Given the description of an element on the screen output the (x, y) to click on. 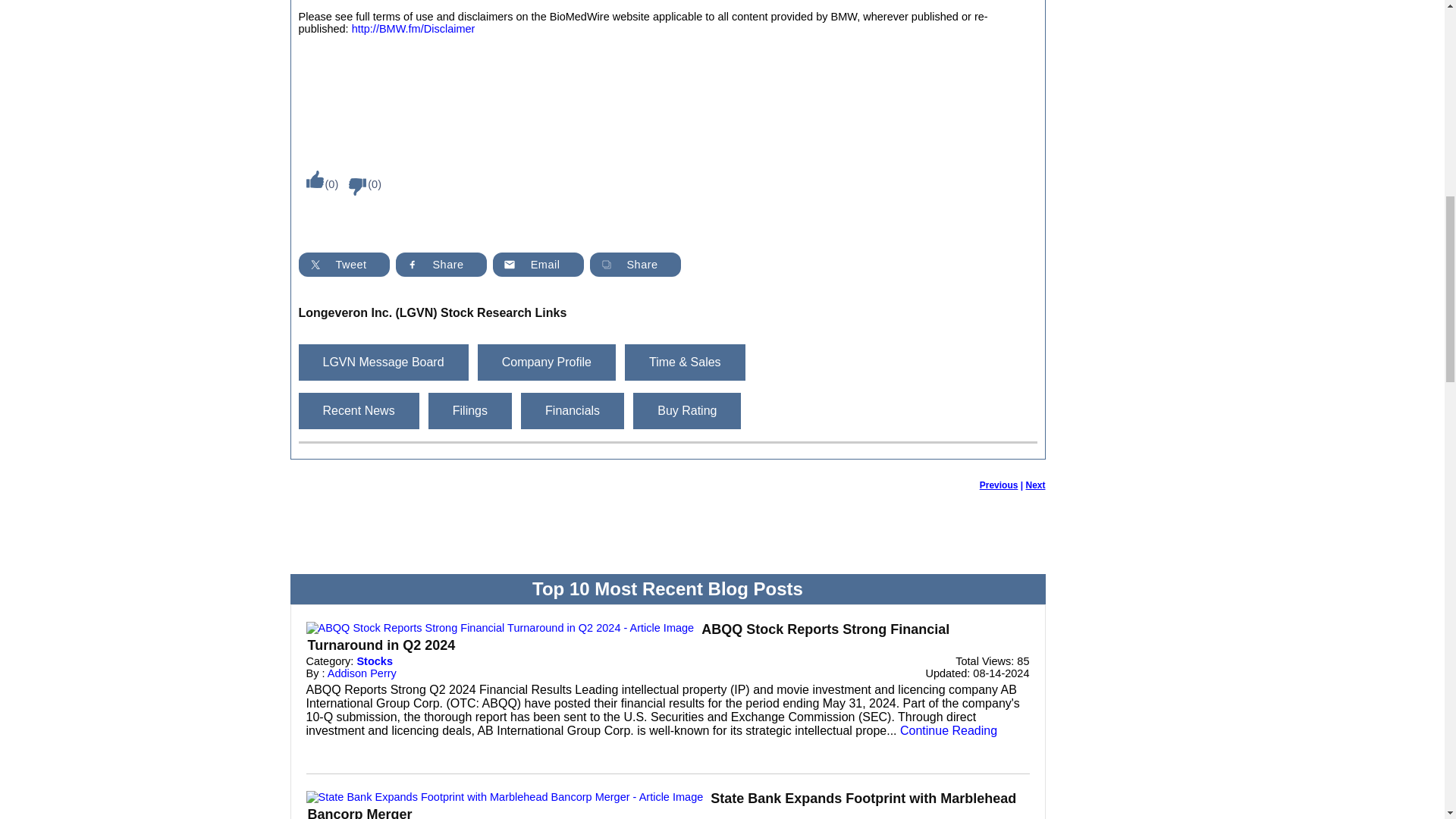
Like This Post (310, 179)
LGVN Stock Company Profile (546, 362)
LGVN Stock Financials (572, 410)
LGVN Stock Message Board (383, 362)
Article Author: Addison Perry's Profile (361, 673)
Blog Category: Stocks (374, 661)
Dislike This Post (353, 186)
